Given the description of an element on the screen output the (x, y) to click on. 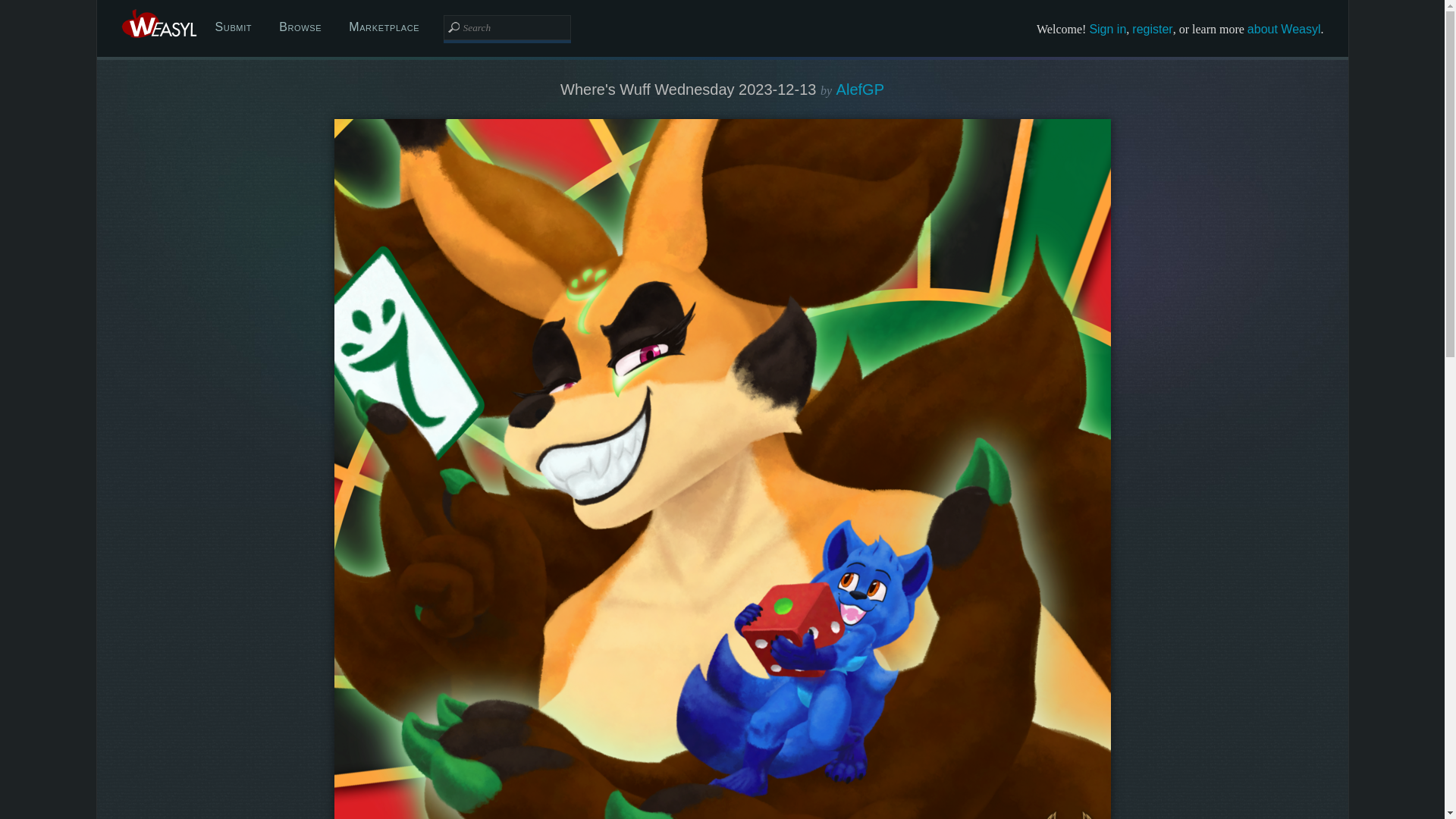
Submit (233, 27)
register (1152, 29)
Search Weasyl (507, 27)
about Weasyl (1283, 29)
Marketplace (383, 27)
Sign in (1107, 29)
Browse (299, 27)
AlefGP (859, 89)
